Given the description of an element on the screen output the (x, y) to click on. 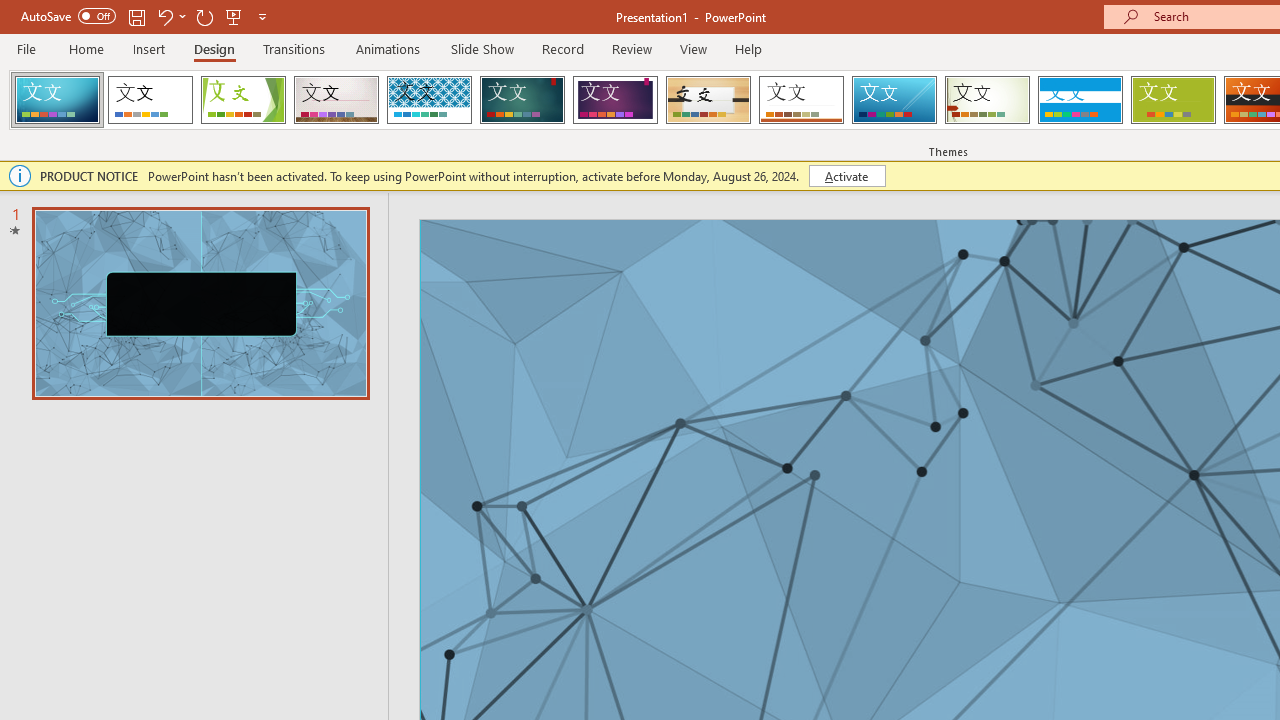
Retrospect (801, 100)
Ion Boardroom (615, 100)
Banded (1080, 100)
Organic (708, 100)
